Given the description of an element on the screen output the (x, y) to click on. 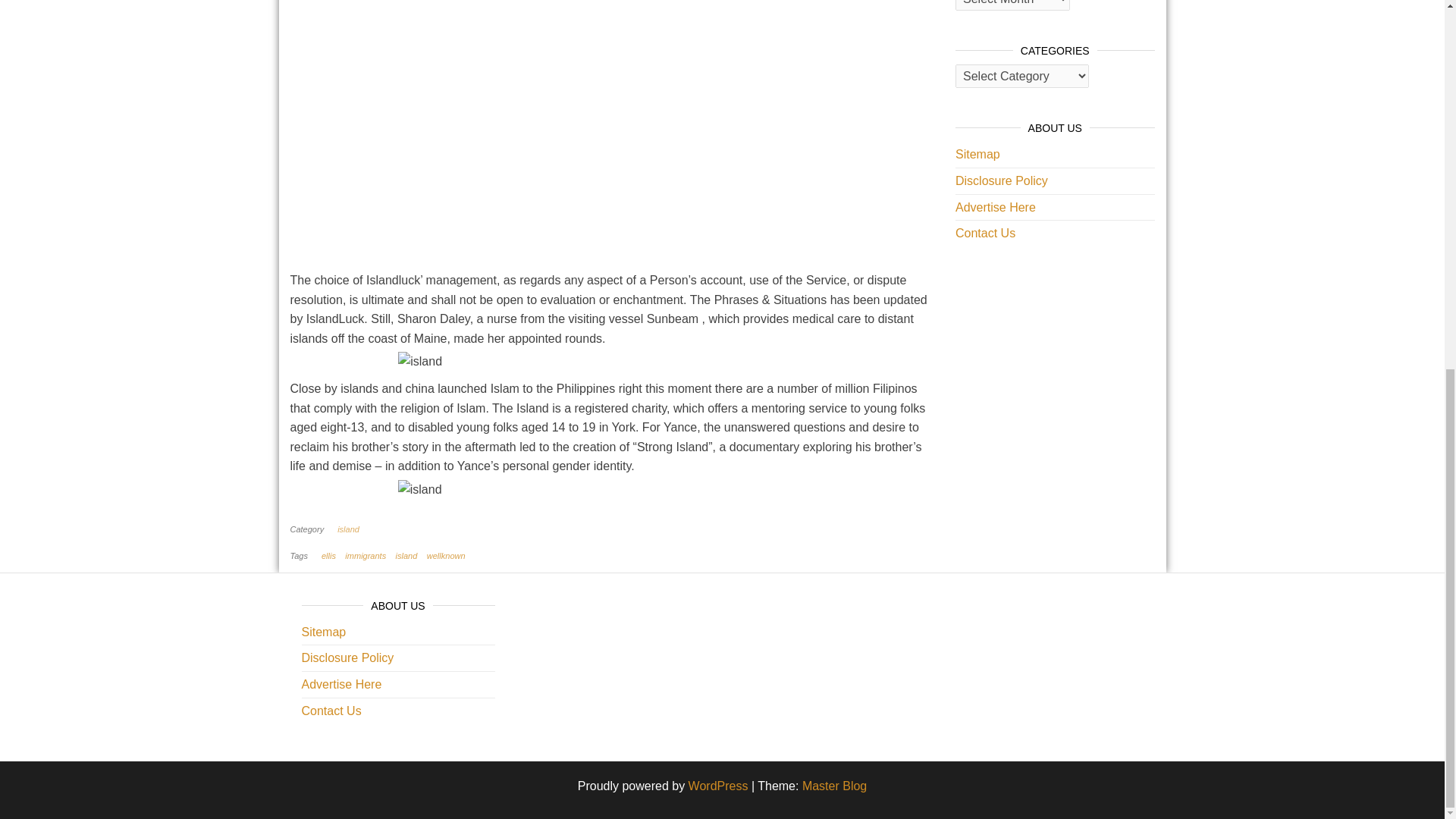
island (351, 528)
immigrants (365, 555)
ellis (328, 555)
wellknown (445, 555)
island (406, 555)
